Given the description of an element on the screen output the (x, y) to click on. 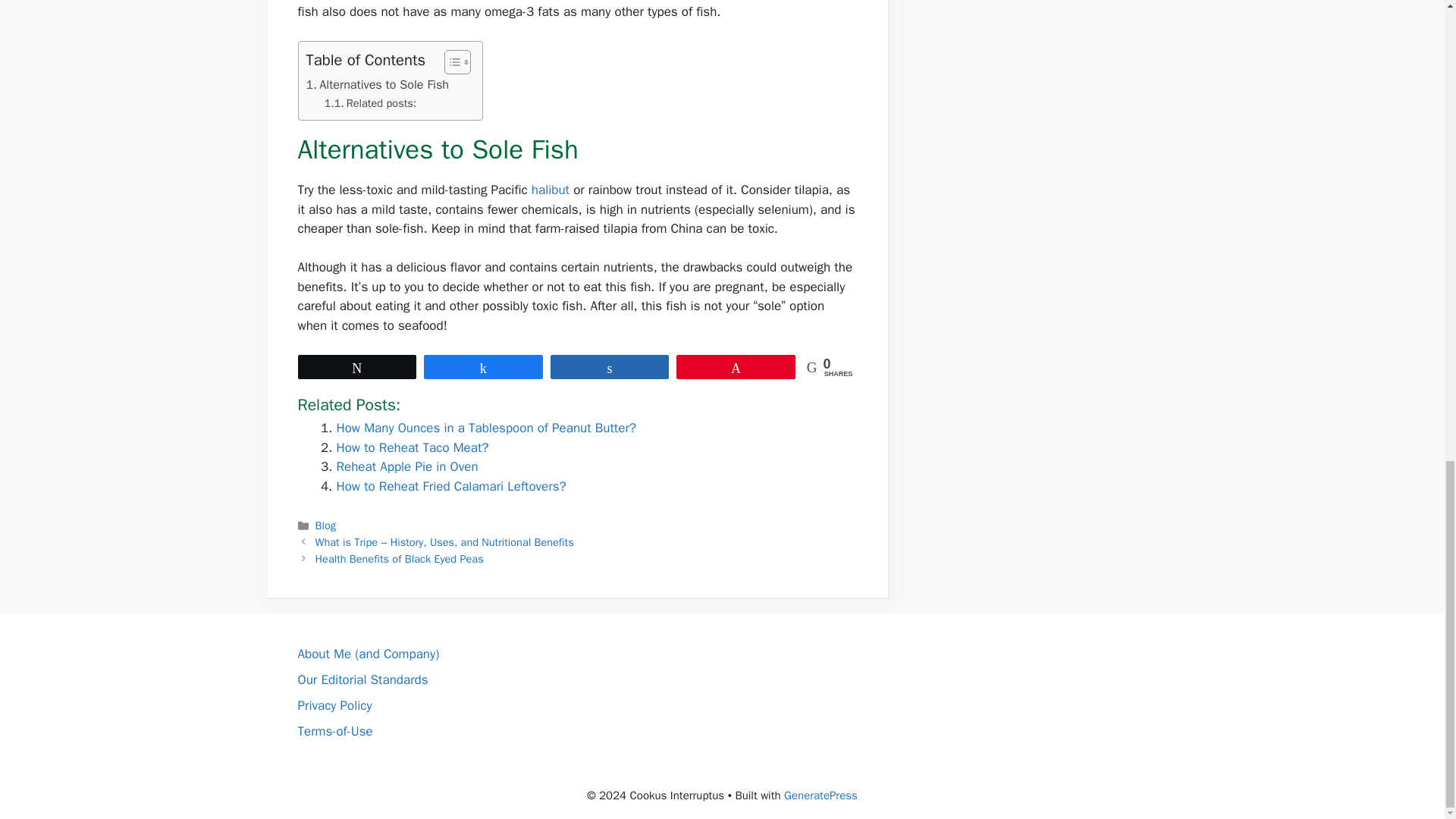
Our Editorial Standards (362, 679)
Alternatives to Sole Fish (377, 85)
GeneratePress (820, 795)
Previous (444, 541)
Alternatives to Sole Fish (377, 85)
Blog (325, 525)
Related posts: (370, 103)
Related posts: (370, 103)
Reheat Apple Pie in Oven (407, 466)
Reheat Apple Pie in Oven (407, 466)
